Given the description of an element on the screen output the (x, y) to click on. 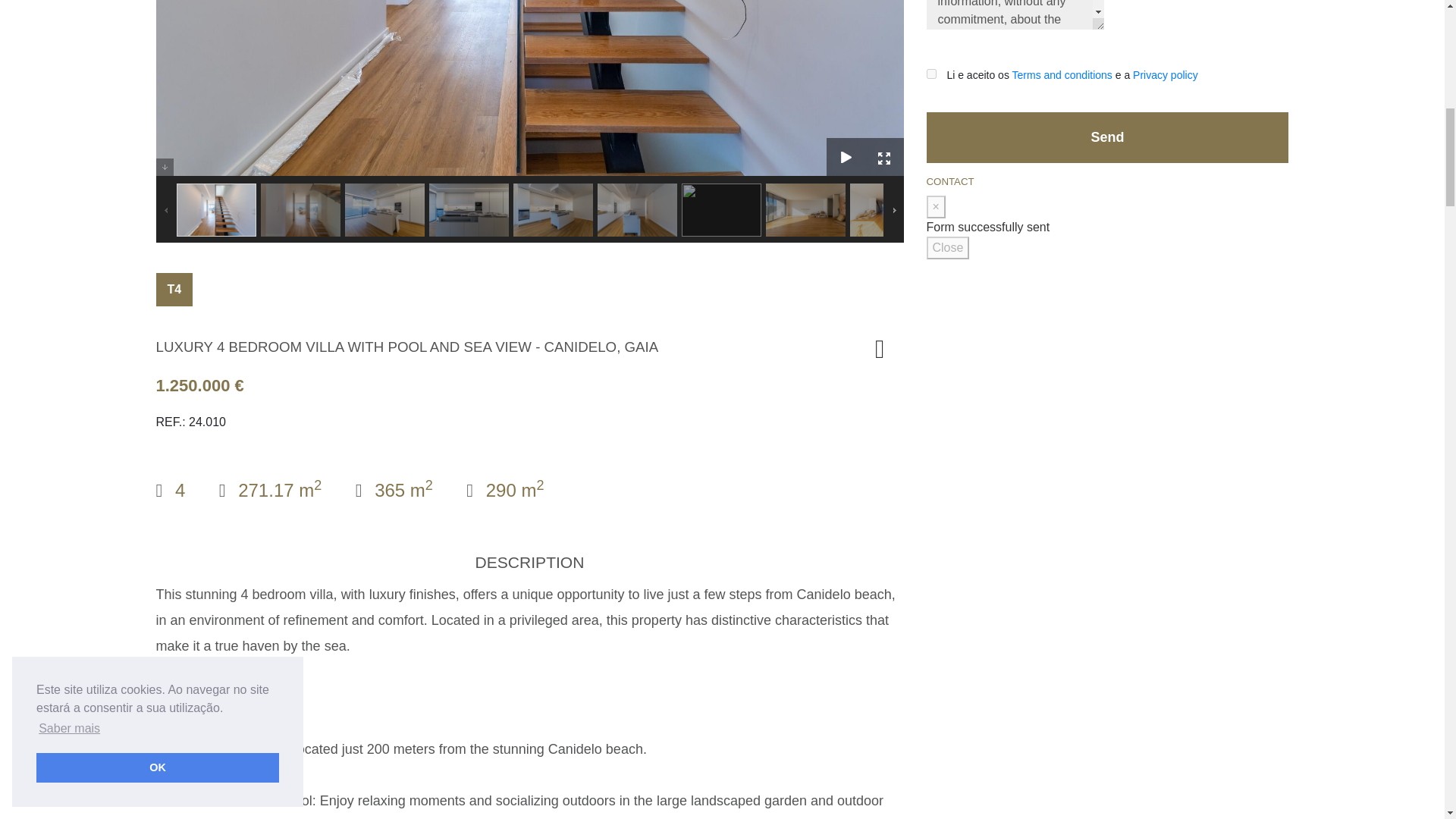
Total area (393, 490)
Land area (504, 490)
Send (1107, 137)
Privacy policy (1165, 74)
on (931, 73)
Terms and conditions (1061, 74)
Living area (270, 490)
Close (947, 247)
